Given the description of an element on the screen output the (x, y) to click on. 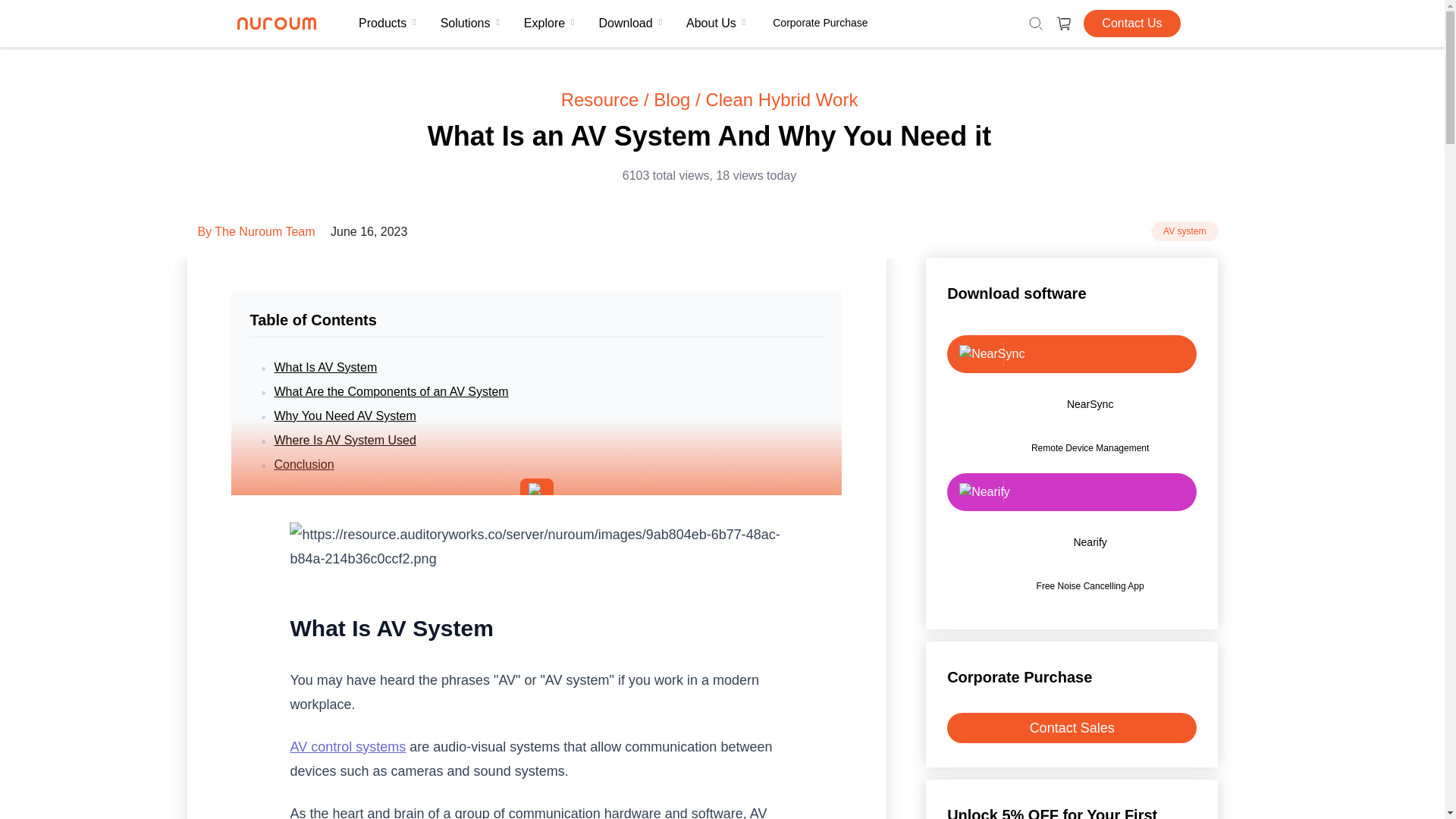
Solutions (470, 22)
NUROUM logo (275, 23)
About Us (715, 22)
cart (1064, 23)
Products (387, 22)
Download (630, 22)
Explore (549, 22)
